Given the description of an element on the screen output the (x, y) to click on. 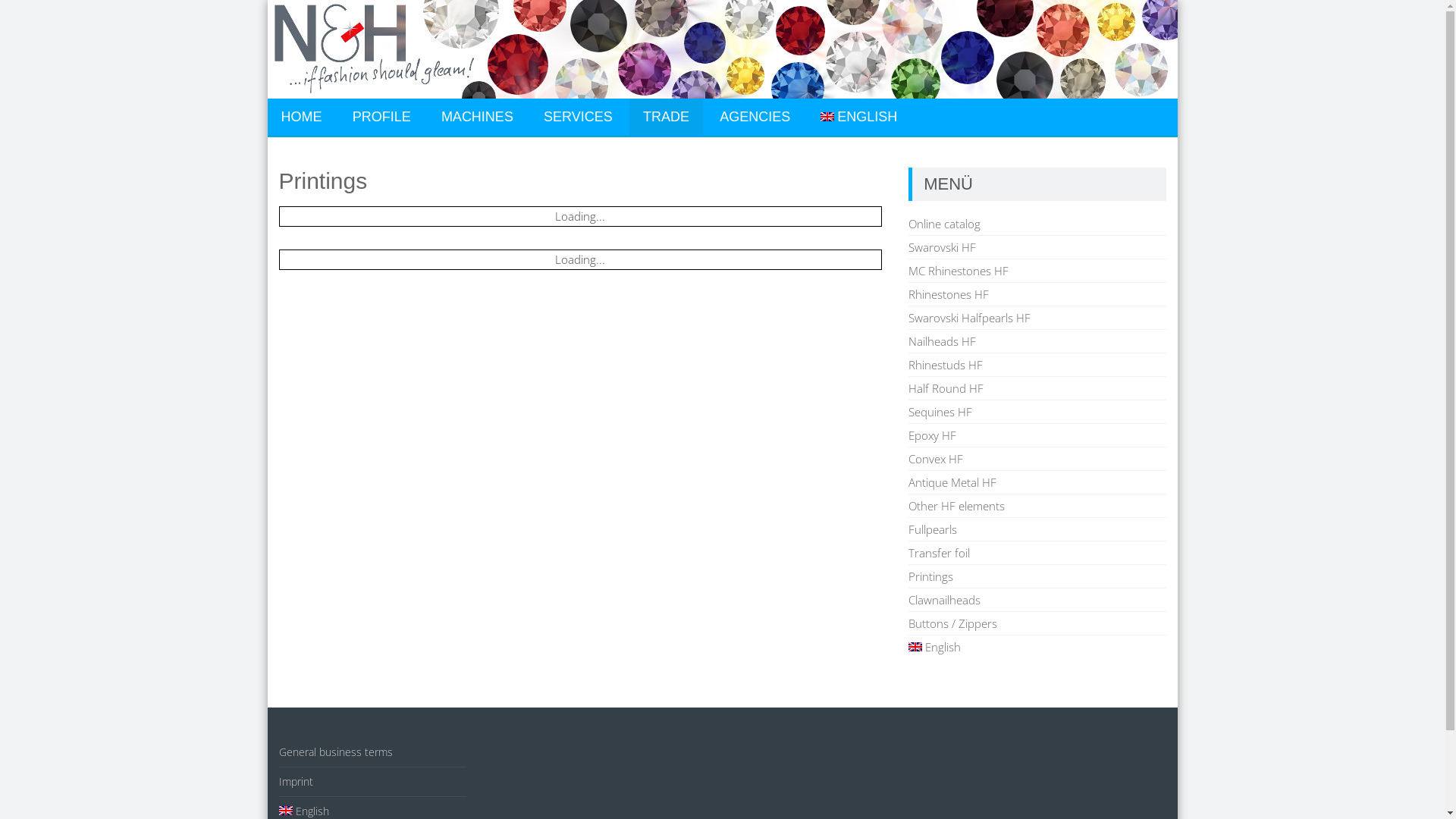
Online catalog Element type: text (944, 223)
Clawnailheads Element type: text (944, 599)
Nailheads HF Element type: text (941, 340)
ENGLISH Element type: text (858, 116)
Swarovski HF Element type: text (941, 246)
AGENCIES Element type: text (754, 116)
Half Round HF Element type: text (945, 387)
Convex HF Element type: text (935, 458)
Rhinestuds HF Element type: text (945, 364)
Rhinestones HF Element type: text (948, 293)
General business terms Element type: text (335, 751)
Swarovski Halfpearls HF Element type: text (969, 317)
MC Rhinestones HF Element type: text (958, 270)
Other HF elements Element type: text (956, 505)
Fullpearls Element type: text (932, 528)
Sequines HF Element type: text (940, 411)
English Element type: text (934, 646)
Imprint Element type: text (296, 781)
Transfer foil Element type: text (938, 552)
English Element type: text (304, 810)
TRADE Element type: text (665, 116)
SERVICES Element type: text (578, 116)
Epoxy HF Element type: text (932, 434)
Buttons / Zippers Element type: text (952, 622)
HOME Element type: text (300, 116)
PROFILE Element type: text (381, 116)
MACHINES Element type: text (477, 116)
Printings Element type: text (930, 575)
Antique Metal HF Element type: text (952, 481)
